Given the description of an element on the screen output the (x, y) to click on. 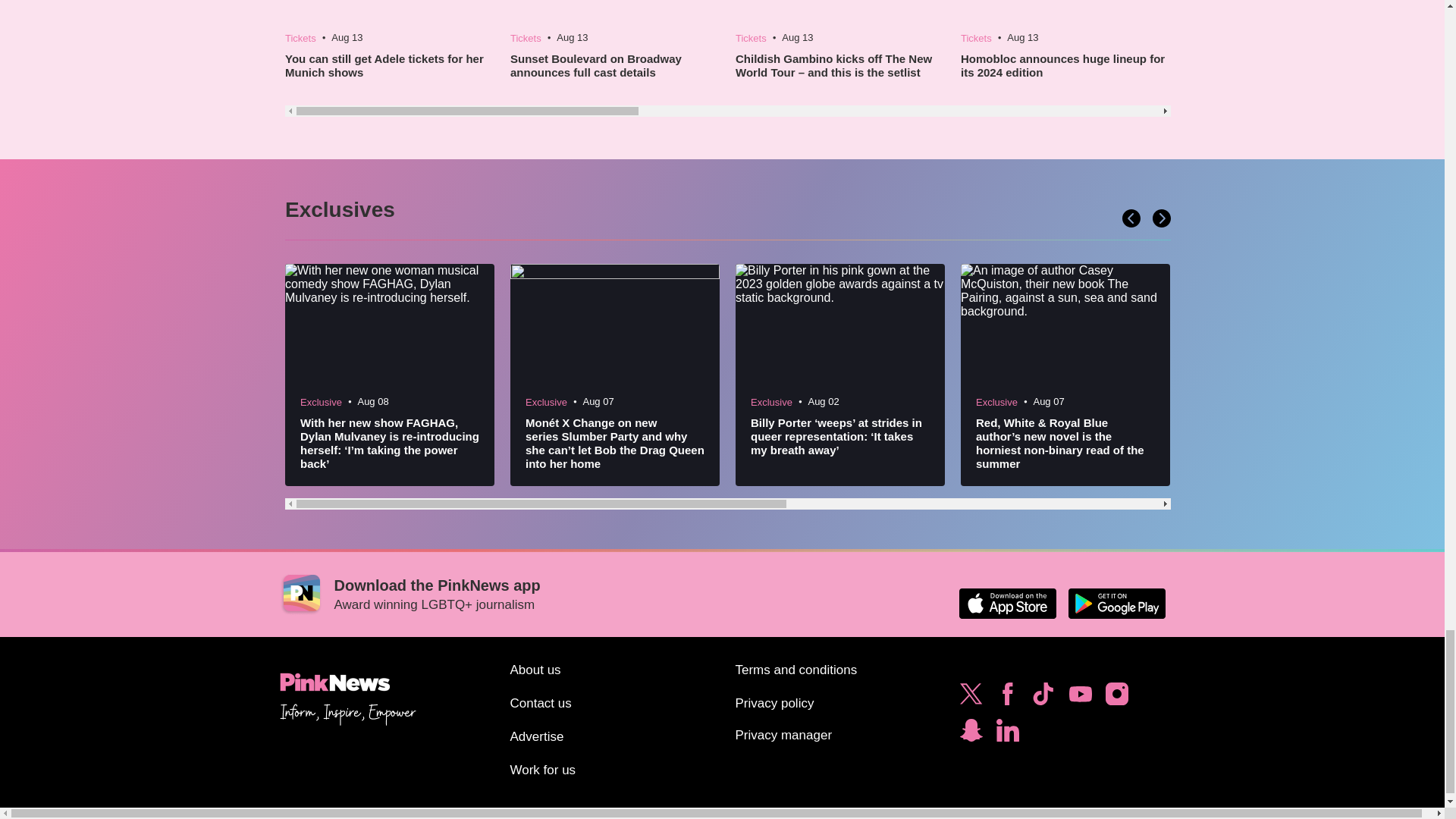
Follow PinkNews on LinkedIn (1007, 733)
Follow PinkNews on Instagram (1116, 697)
Follow PinkNews on TikTok (1042, 697)
Download the PinkNews app on the Apple App Store (1006, 603)
Subscribe to PinkNews on Snapchat (970, 733)
Subscribe to PinkNews on YouTube (1079, 697)
Follow PinkNews on Twitter (970, 697)
Download the PinkNews app on Google Play (1115, 603)
